Given the description of an element on the screen output the (x, y) to click on. 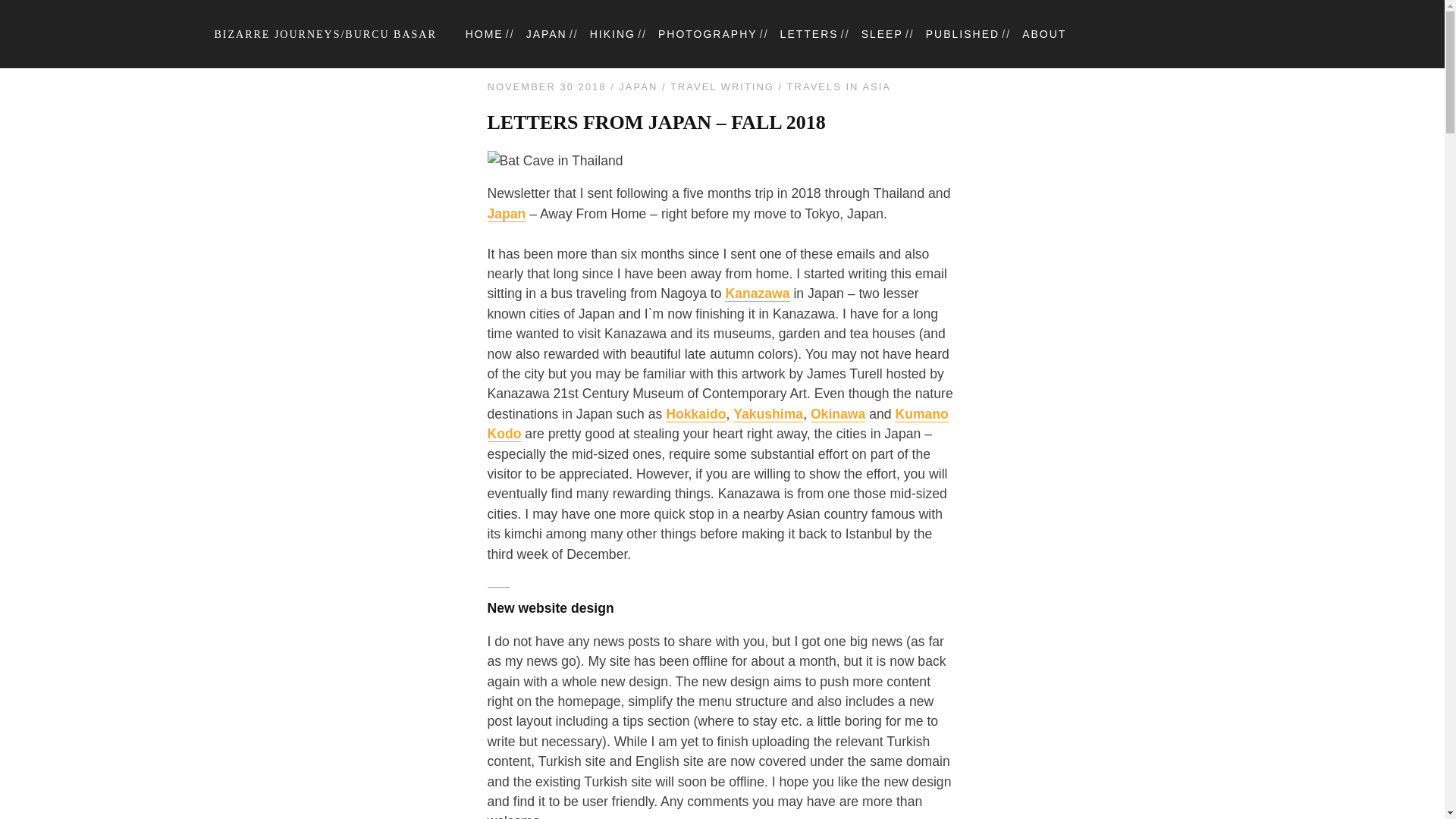
HOME (484, 33)
Okinawa (837, 414)
Search (24, 9)
LETTERS (809, 33)
Kumano Kodo (716, 424)
ABOUT (1043, 33)
PUBLISHED (962, 33)
JAPAN (546, 33)
Japan (505, 213)
Kanazawa (757, 293)
Hokkaido (695, 414)
HIKING (611, 33)
PHOTOGRAPHY (707, 33)
Yakushima (768, 414)
